Given the description of an element on the screen output the (x, y) to click on. 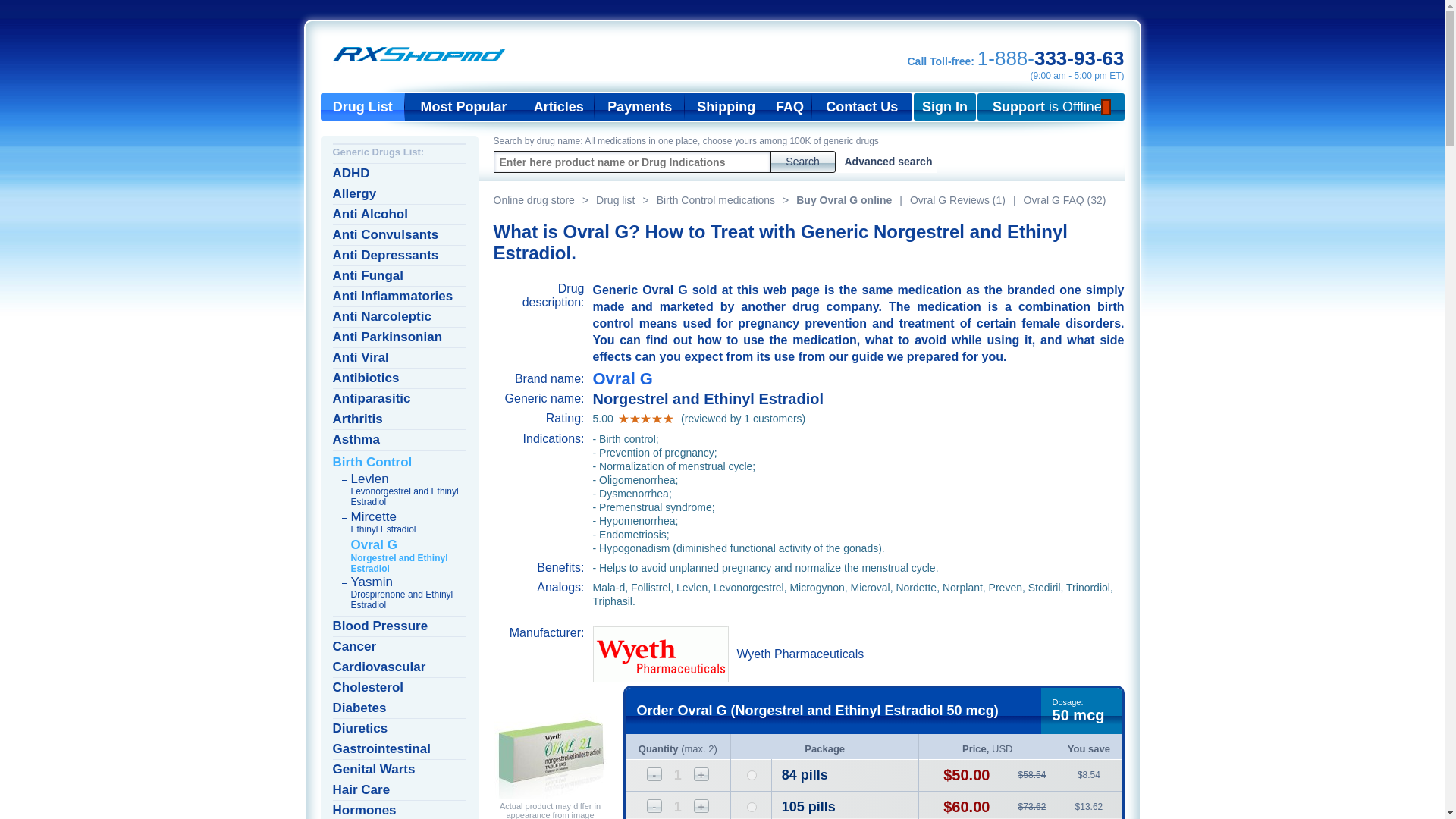
Blood Pressure (398, 625)
Anti Viral (398, 357)
Diuretics (398, 728)
Anti Parkinsonian (398, 336)
Cardiovascular (398, 666)
Antiparasitic (398, 398)
Antibiotics (398, 377)
Drugstore online - RXShop.md (423, 55)
FAQ (789, 106)
Hormones (398, 809)
Anti Alcohol (398, 213)
Most Popular (463, 106)
Cancer (398, 646)
Allergy (398, 193)
Drug List (362, 106)
